Given the description of an element on the screen output the (x, y) to click on. 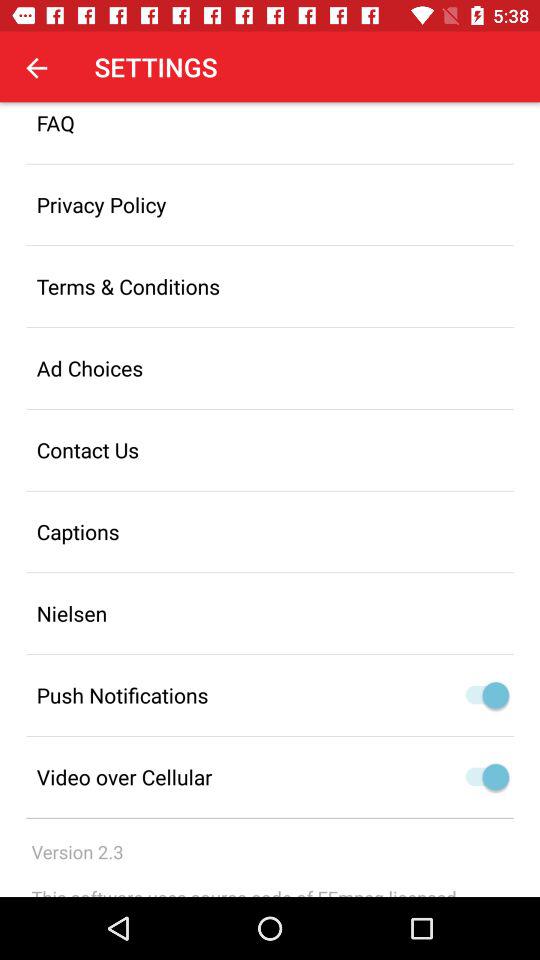
select to on option (495, 695)
